Given the description of an element on the screen output the (x, y) to click on. 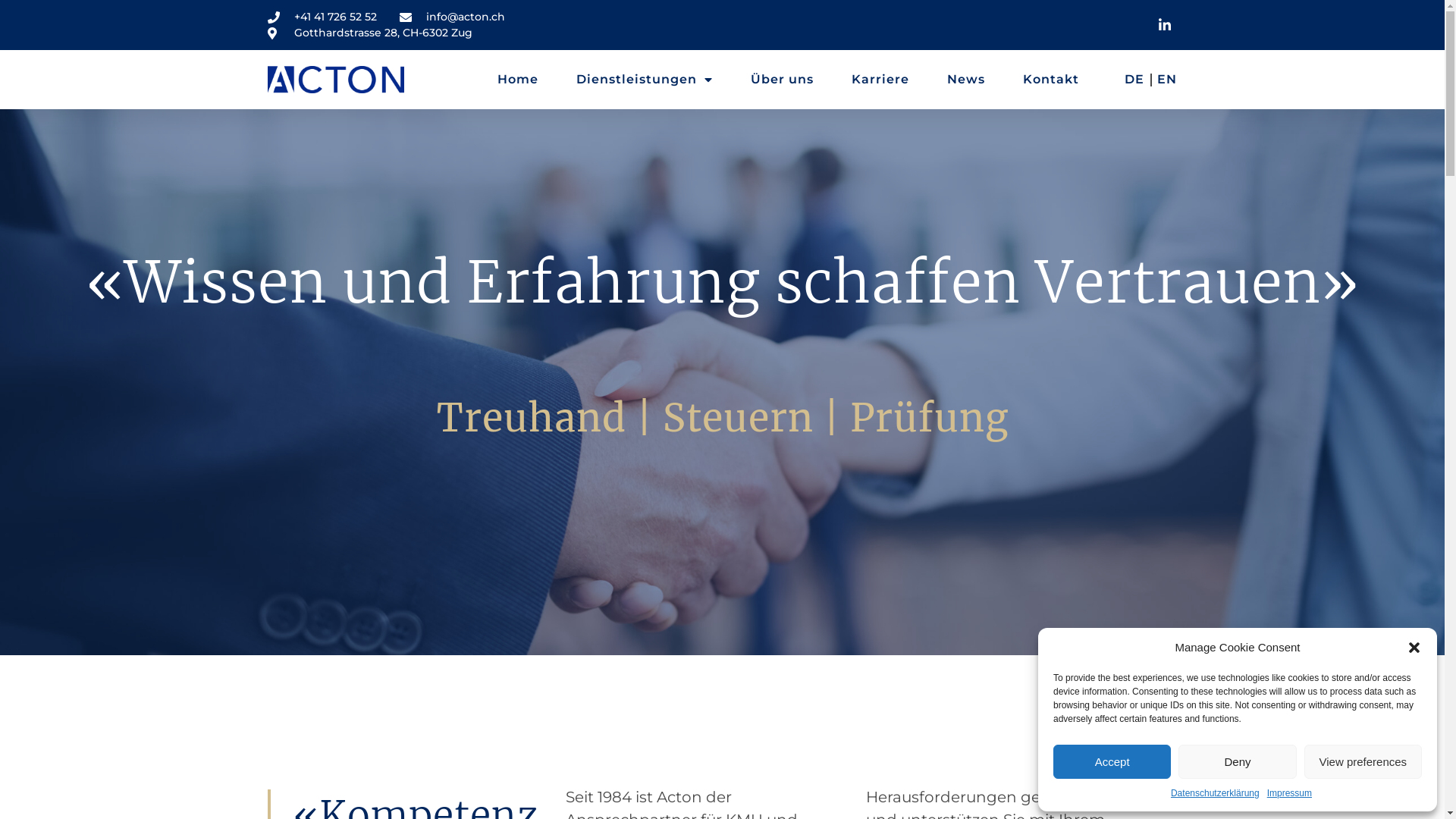
Impressum Element type: text (1289, 793)
Kontakt Element type: text (1050, 79)
Accept Element type: text (1111, 761)
Deny Element type: text (1236, 761)
View preferences Element type: text (1362, 761)
News Element type: text (966, 79)
+41 41 726 52 52 Element type: text (321, 17)
Dienstleistungen Element type: text (644, 79)
Karriere Element type: text (880, 79)
info@acton.ch Element type: text (451, 17)
EN Element type: text (1166, 79)
DE Element type: text (1134, 79)
Home Element type: text (517, 79)
